Given the description of an element on the screen output the (x, y) to click on. 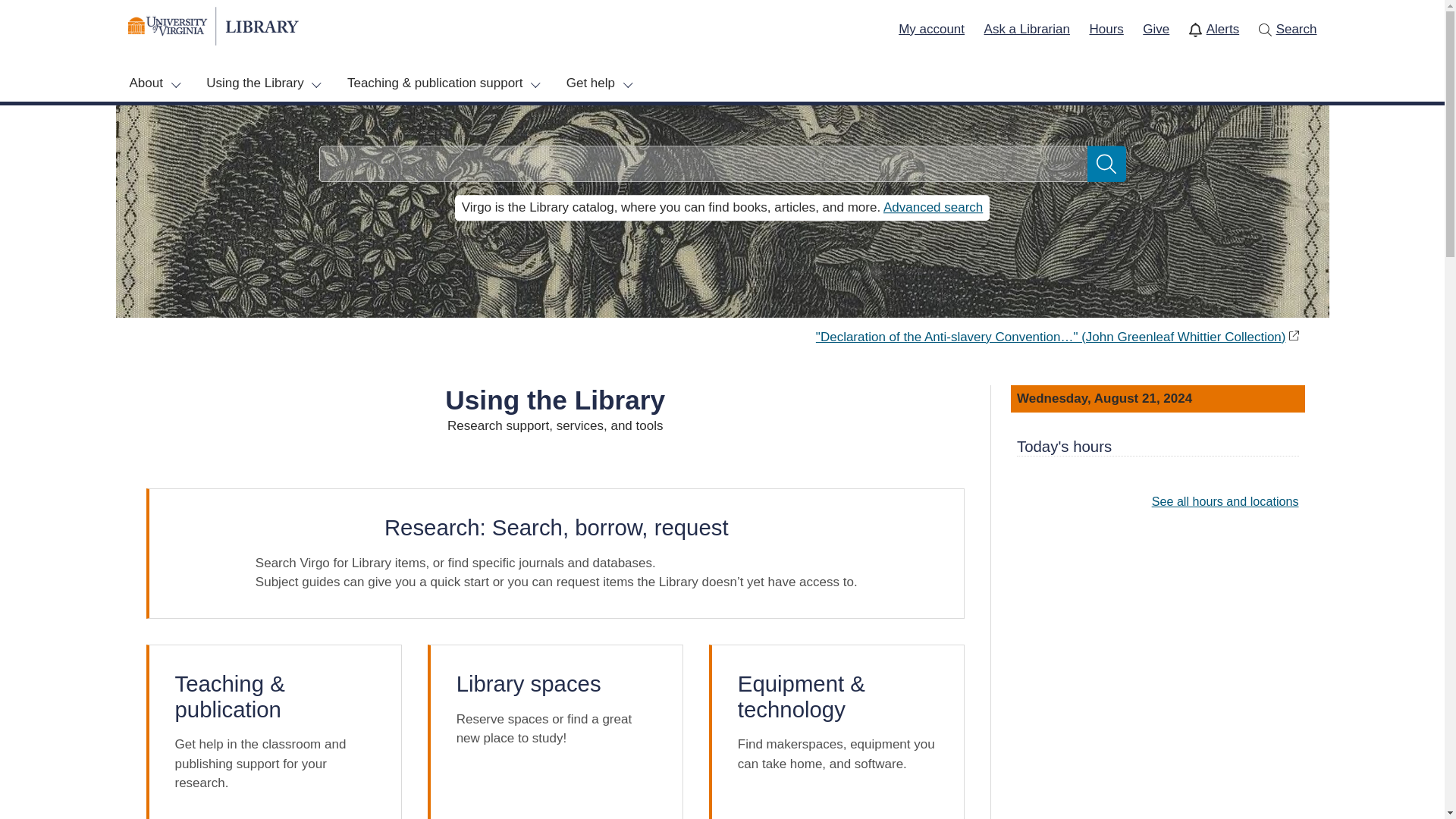
Give (1155, 29)
Search (1294, 29)
Alerts (1220, 29)
About (154, 82)
Using the Library (263, 82)
Hours (1105, 29)
My account (930, 29)
Ask a Librarian (1027, 29)
